Given the description of an element on the screen output the (x, y) to click on. 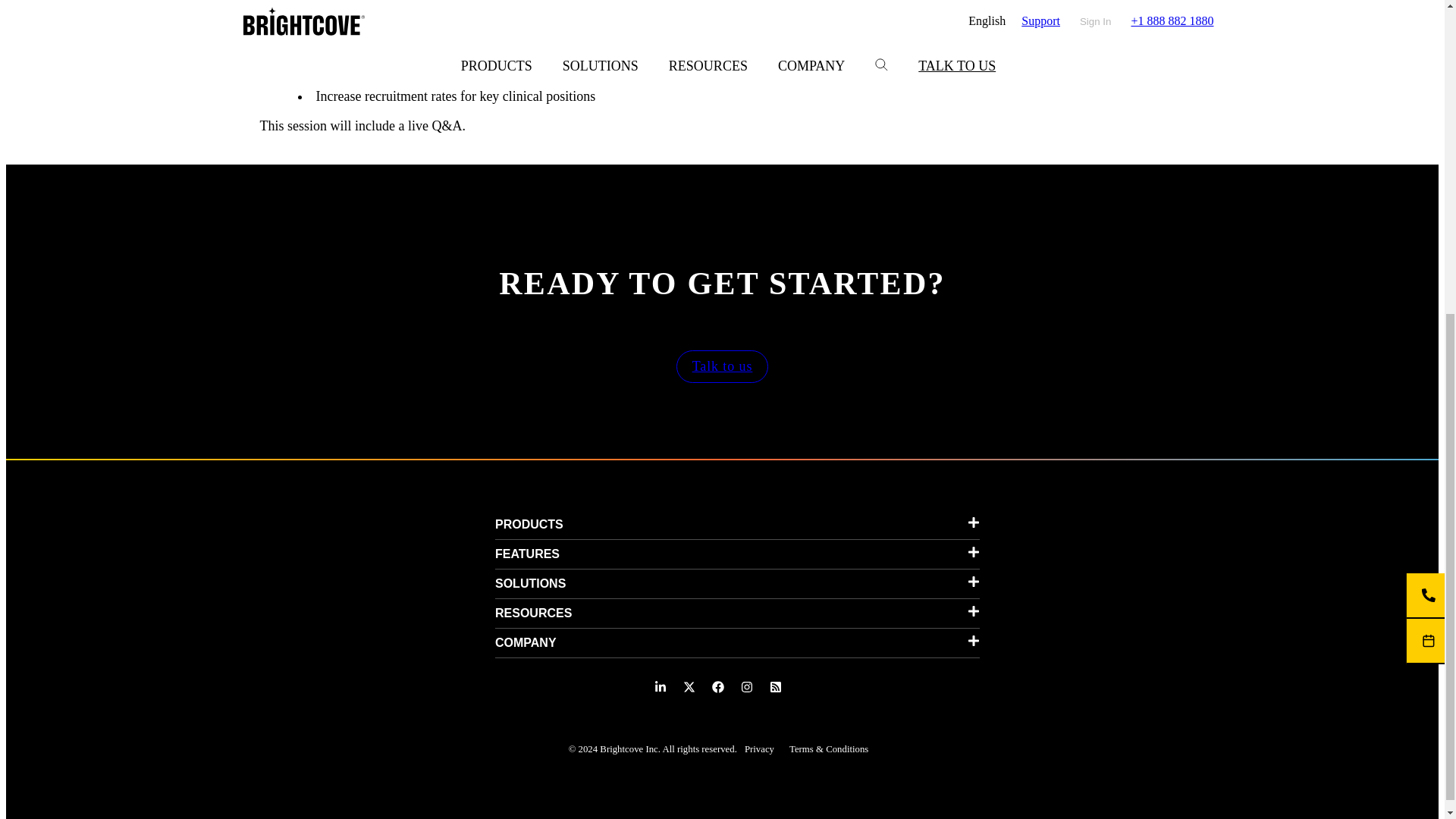
FEATURES (737, 553)
PRODUCTS (737, 524)
SOLUTIONS (737, 583)
Talk to us (722, 366)
